Given the description of an element on the screen output the (x, y) to click on. 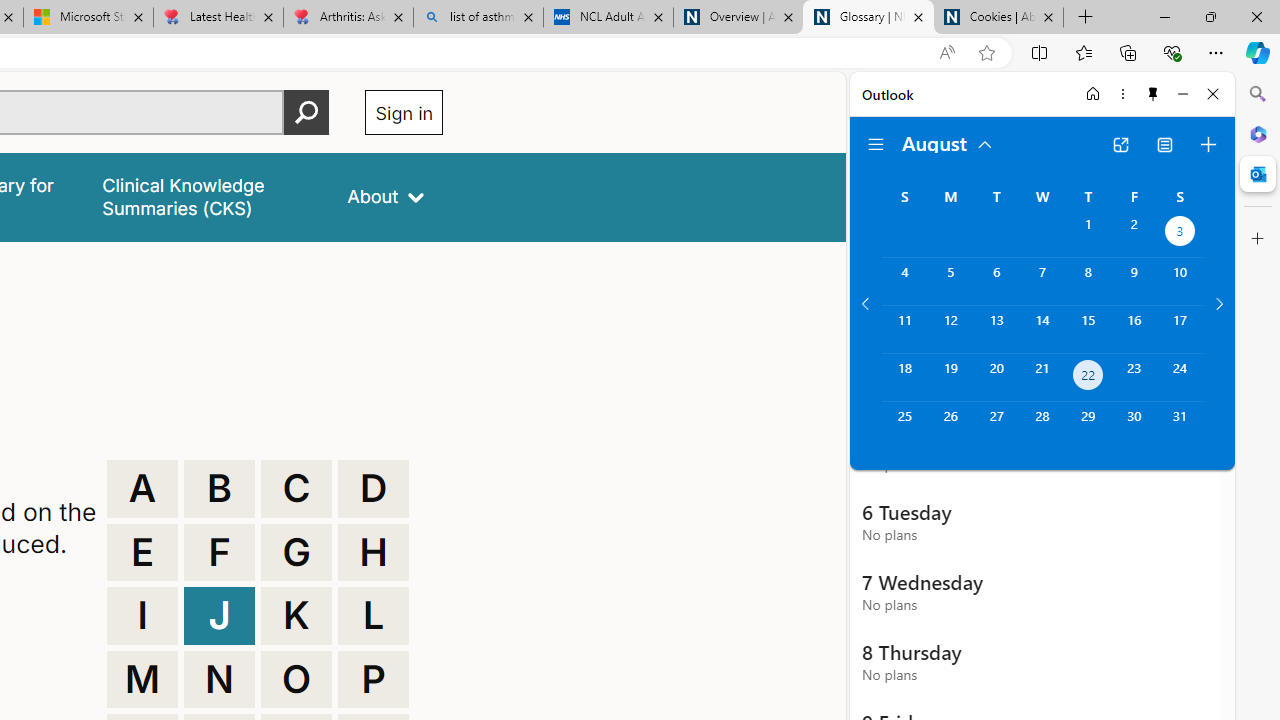
Thursday, August 15, 2024.  (1088, 329)
Saturday, August 31, 2024.  (1180, 425)
P (373, 679)
Friday, August 16, 2024.  (1134, 329)
Monday, August 12, 2024.  (950, 329)
F (219, 551)
Cookies | About | NICE (998, 17)
Saturday, August 3, 2024. Date selected.  (1180, 233)
Friday, August 30, 2024.  (1134, 425)
L (373, 615)
Thursday, August 22, 2024. Today.  (1088, 377)
